Given the description of an element on the screen output the (x, y) to click on. 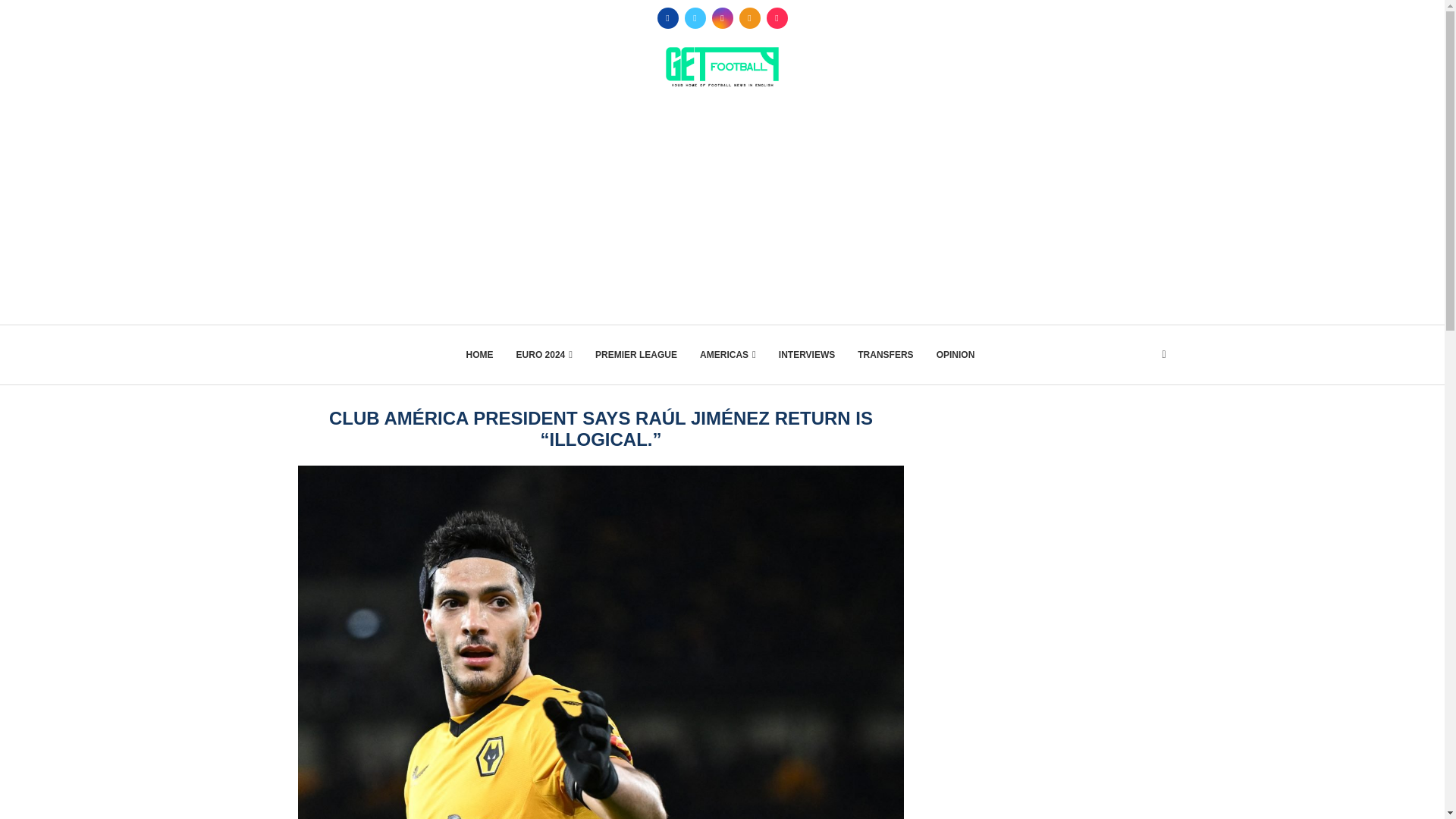
INTERVIEWS (806, 354)
TRANSFERS (884, 354)
EURO 2024 (544, 354)
PREMIER LEAGUE (636, 354)
AMERICAS (727, 354)
